Given the description of an element on the screen output the (x, y) to click on. 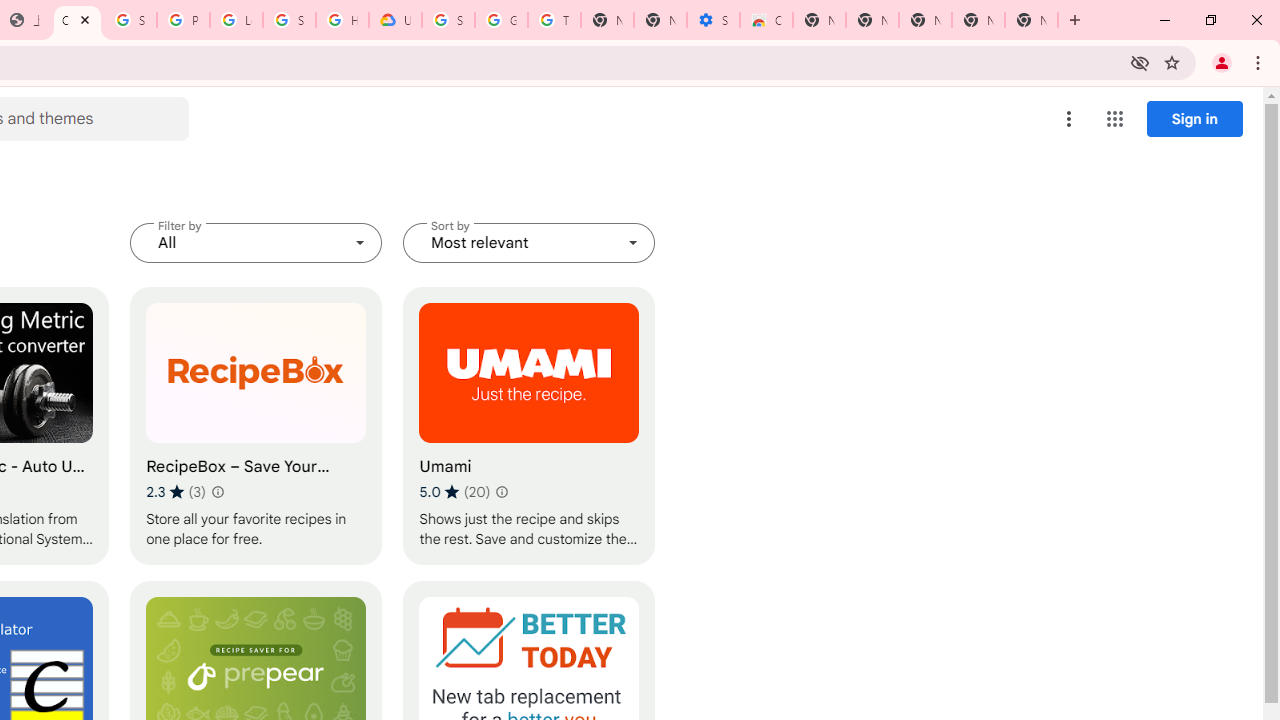
Average rating 2.3 out of 5 stars. 3 ratings. (176, 491)
Learn more about results and reviews "Umami" (502, 491)
Sign in - Google Accounts (448, 20)
Settings - Accessibility (713, 20)
Sign in - Google Accounts (289, 20)
Sign in - Google Accounts (130, 20)
Google Account Help (501, 20)
Sort by Most relevant (529, 242)
